Given the description of an element on the screen output the (x, y) to click on. 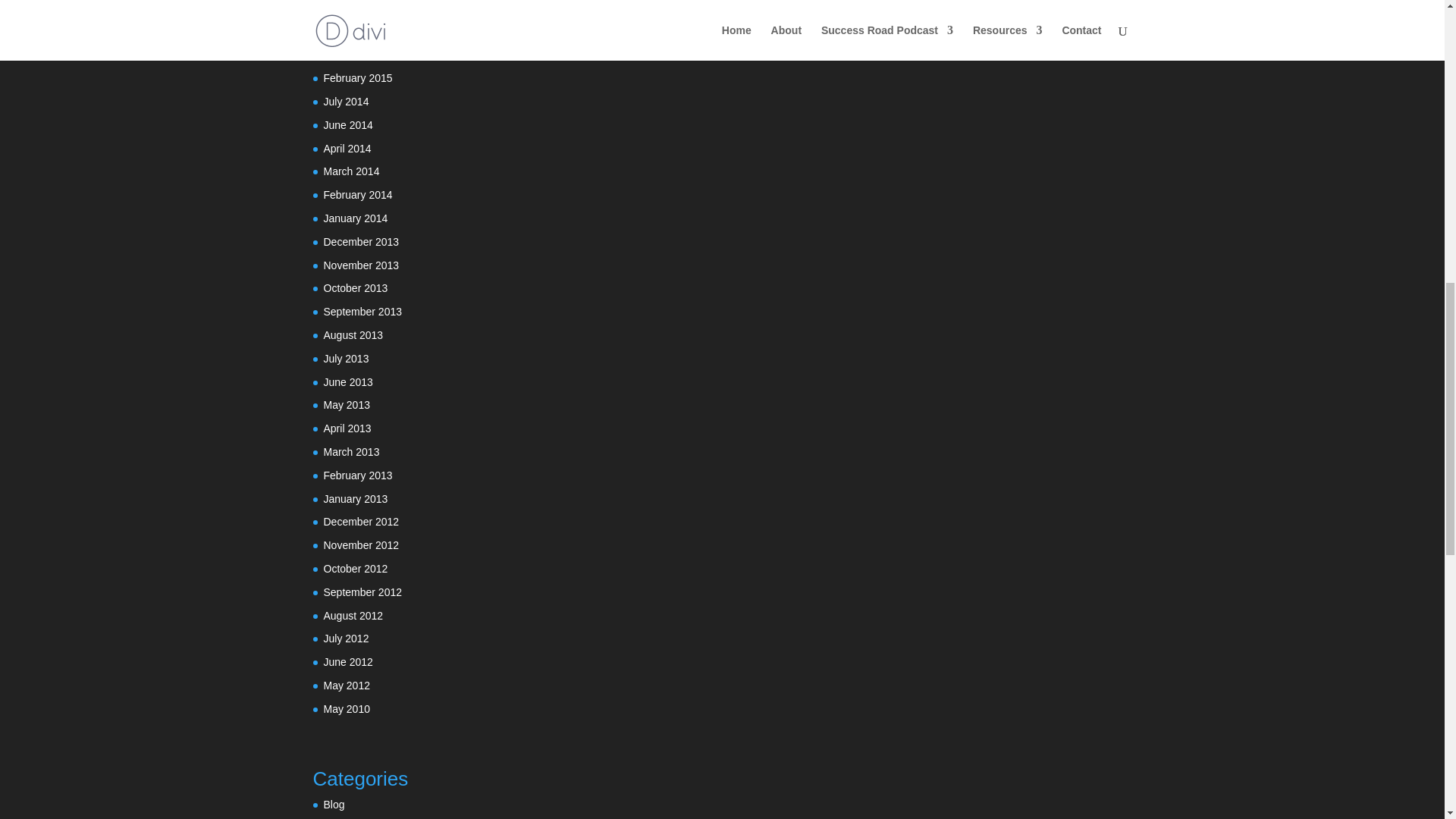
March 2015 (350, 54)
February 2015 (357, 78)
June 2015 (347, 8)
July 2014 (345, 101)
June 2014 (347, 124)
April 2015 (347, 31)
